Given the description of an element on the screen output the (x, y) to click on. 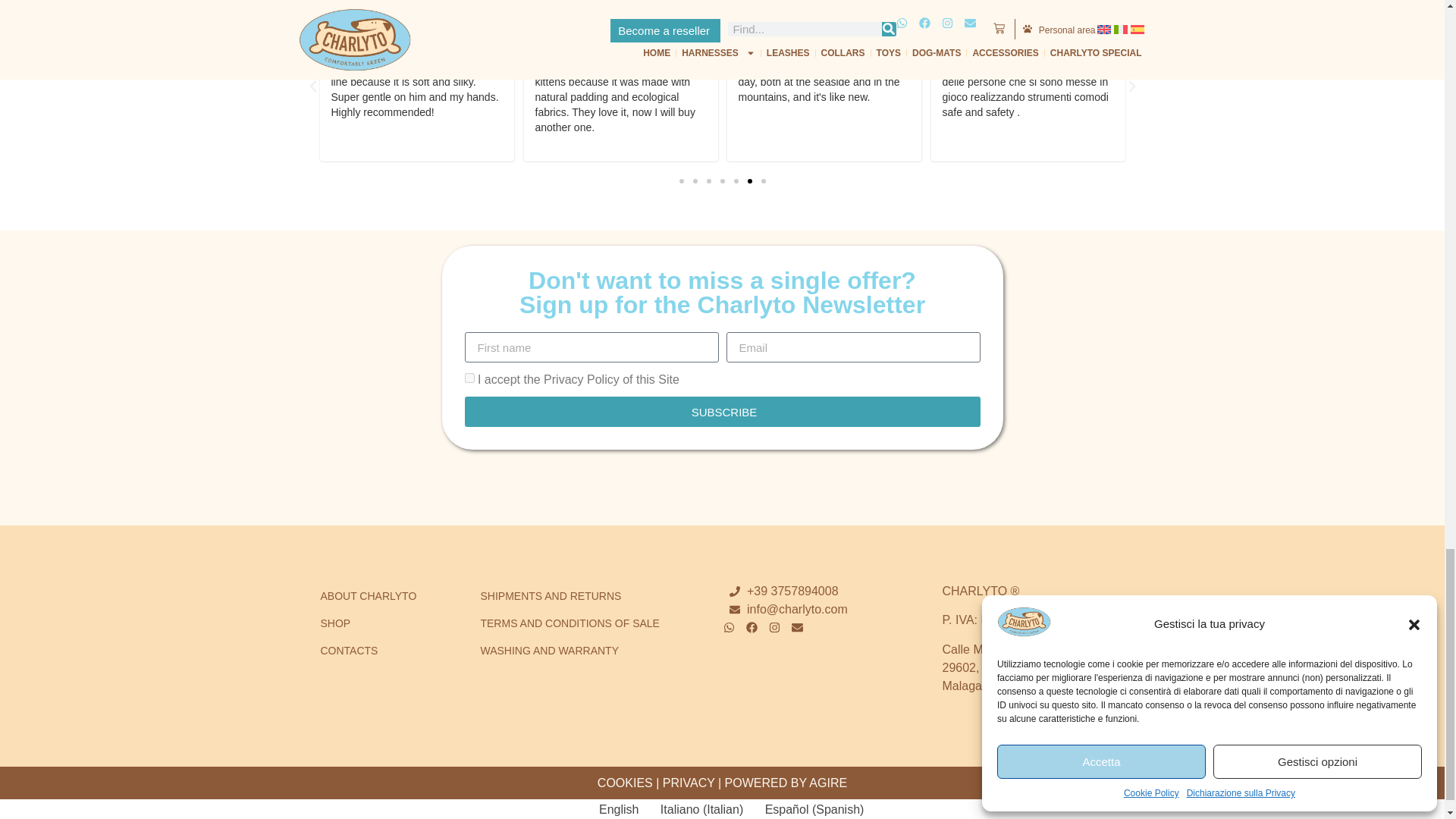
on (469, 378)
